Given the description of an element on the screen output the (x, y) to click on. 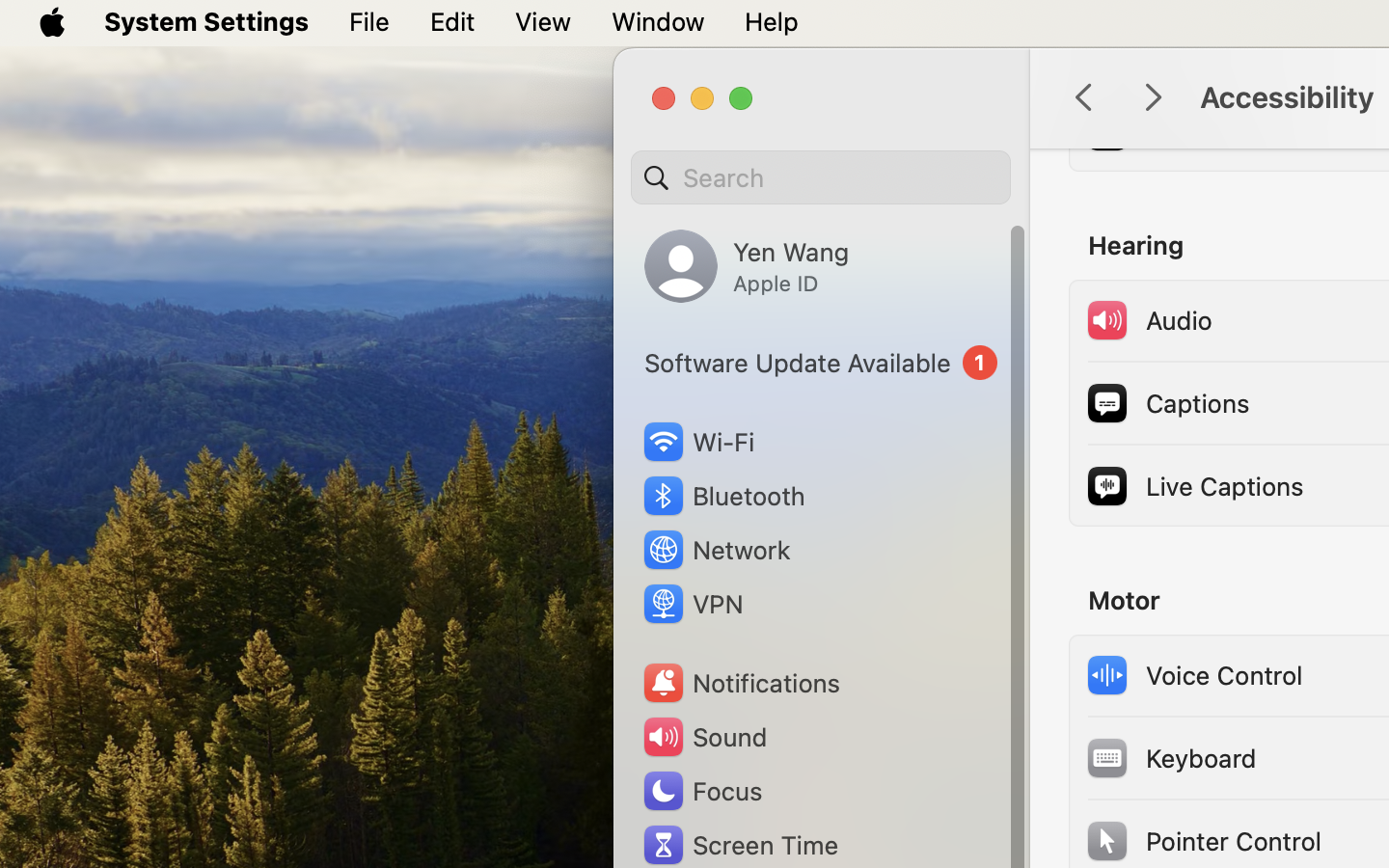
Network Element type: AXStaticText (715, 549)
Screen Time Element type: AXStaticText (739, 844)
Notifications Element type: AXStaticText (740, 682)
Bluetooth Element type: AXStaticText (723, 495)
